Given the description of an element on the screen output the (x, y) to click on. 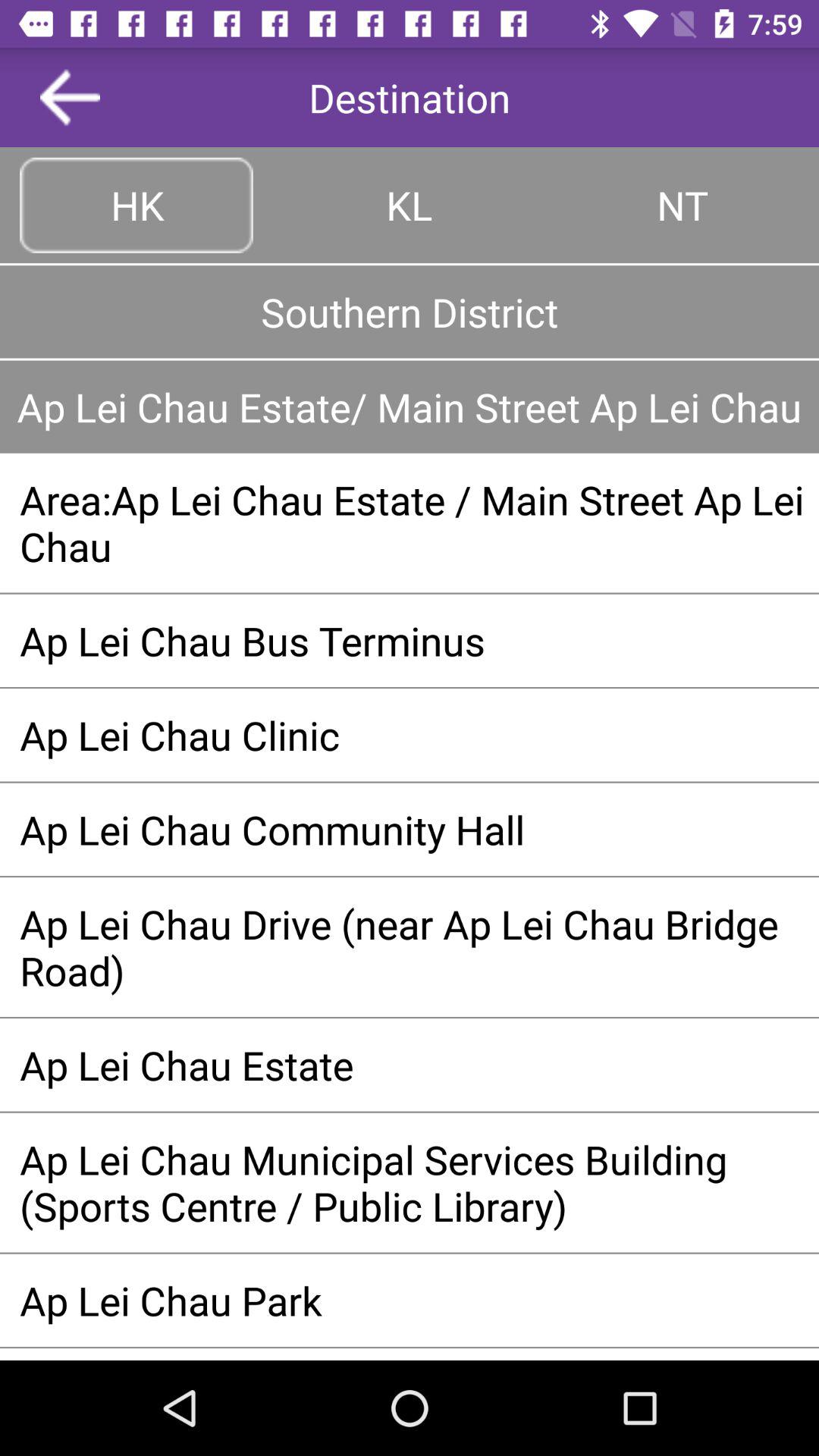
turn off the icon below the destination item (409, 205)
